Given the description of an element on the screen output the (x, y) to click on. 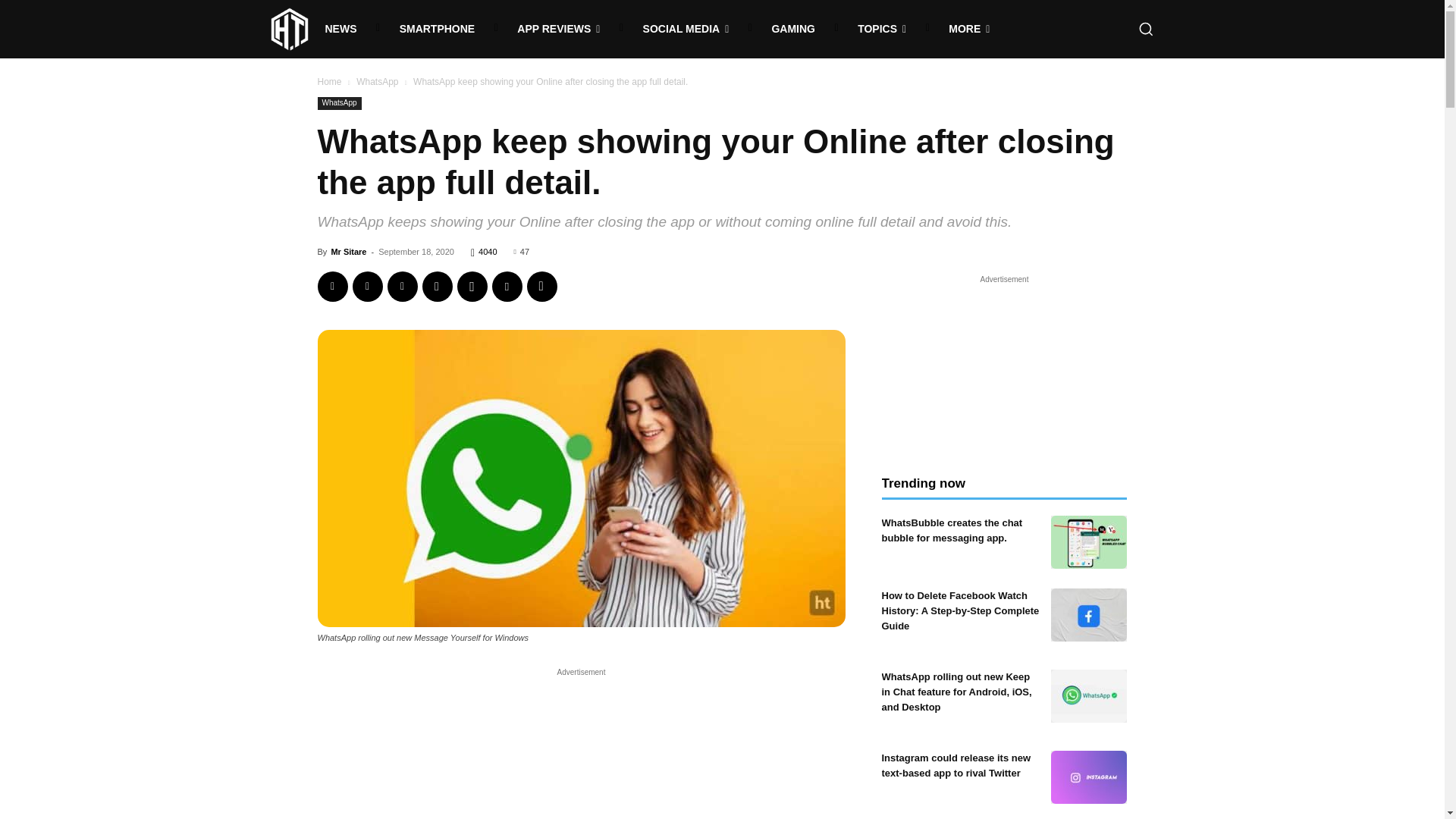
APP REVIEWS (557, 28)
SOCIAL MEDIA (685, 28)
SMARTPHONE (437, 28)
NEWS (339, 28)
View all posts in WhatsApp (376, 81)
